Given the description of an element on the screen output the (x, y) to click on. 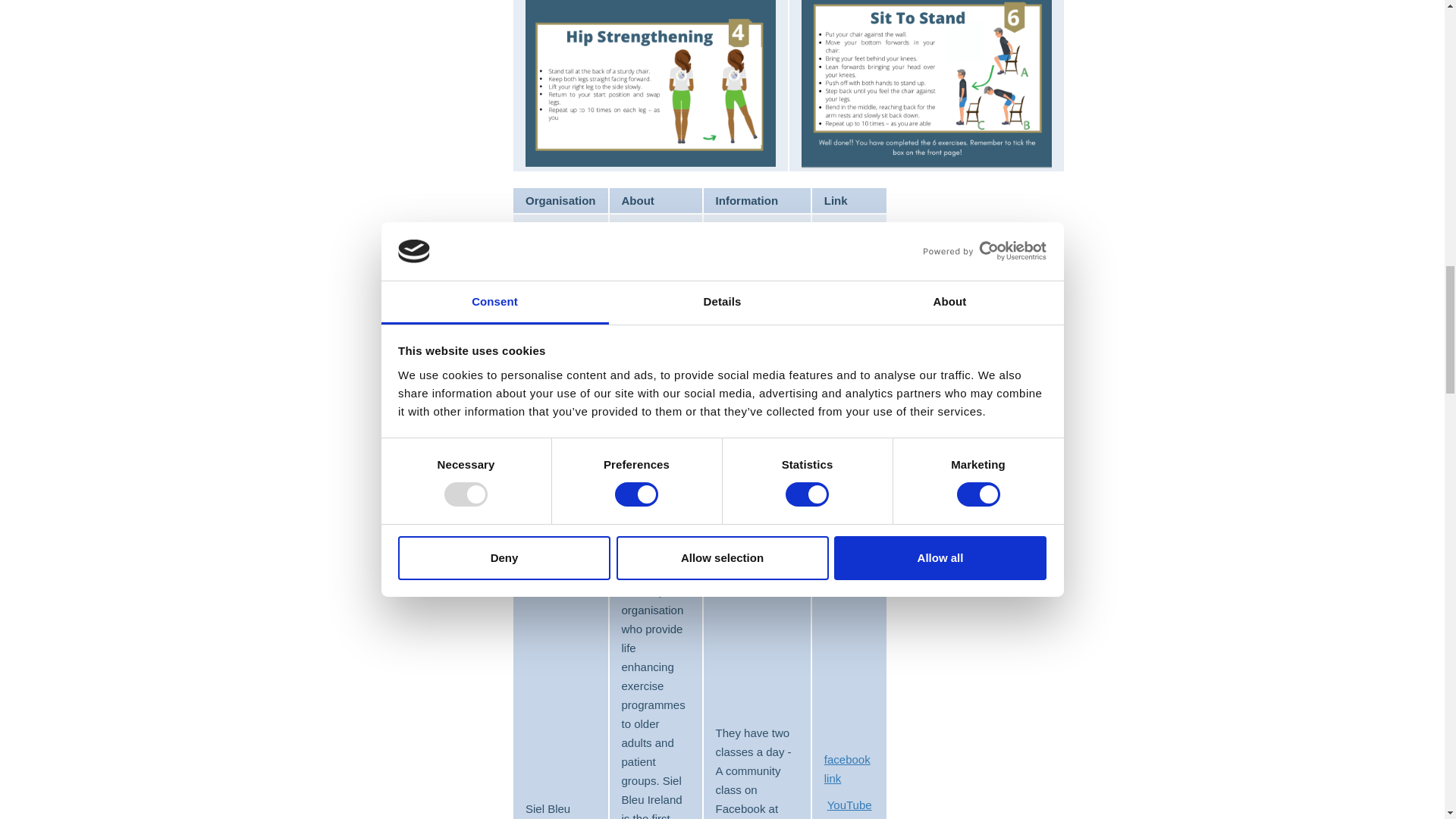
Screenshot-2020-05-07-at-14.02.09 (926, 84)
Screenshot-2020-05-07-at-14.02.35 (650, 83)
